Given the description of an element on the screen output the (x, y) to click on. 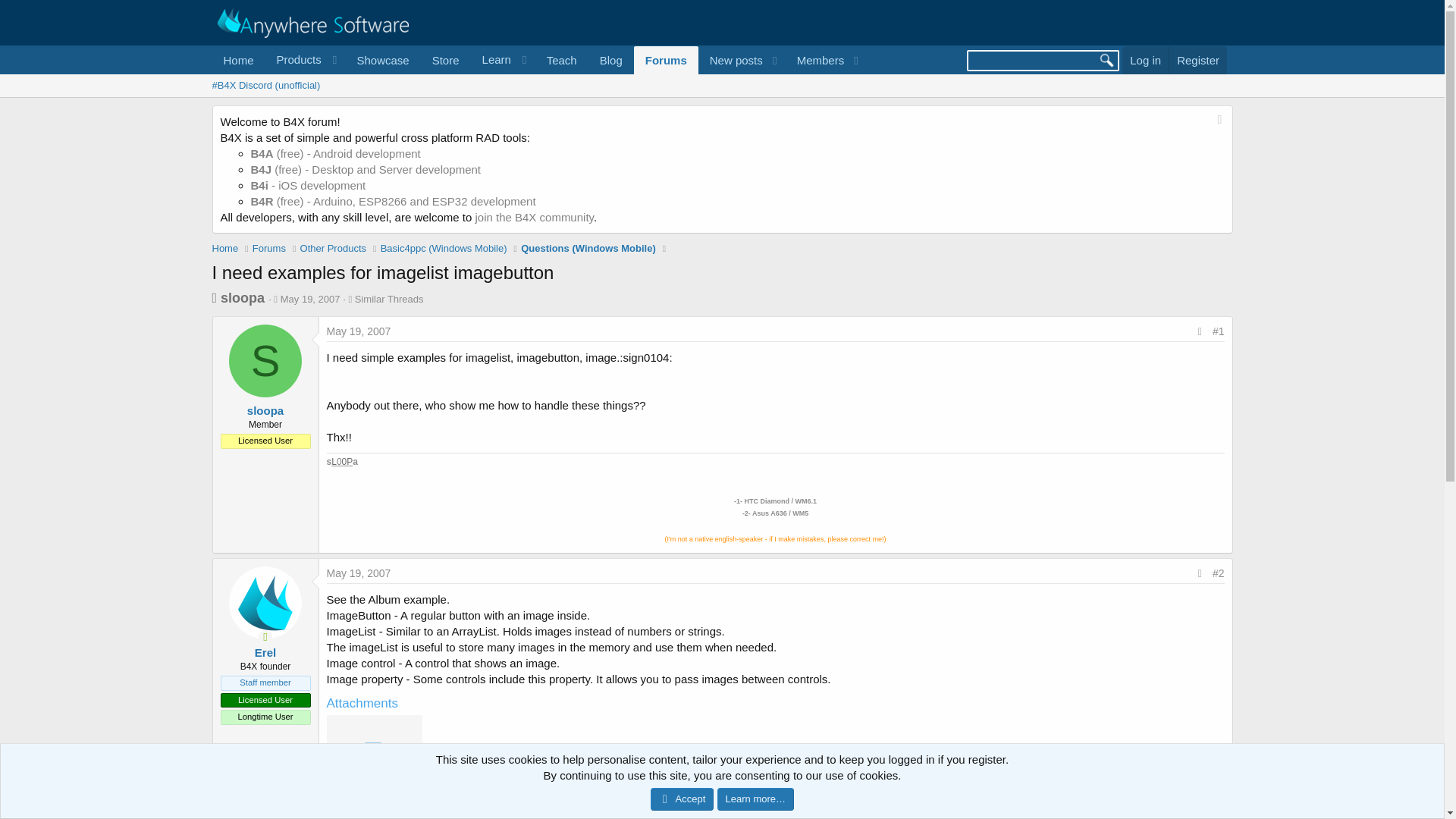
New posts (731, 59)
Register (1198, 59)
Learn (502, 59)
Teach (561, 59)
May 19, 2007 at 2:34 PM (358, 573)
Log in (1145, 59)
Album.zip (373, 798)
Forums (665, 59)
May 19, 2007 at 11:55 AM (358, 331)
